Given the description of an element on the screen output the (x, y) to click on. 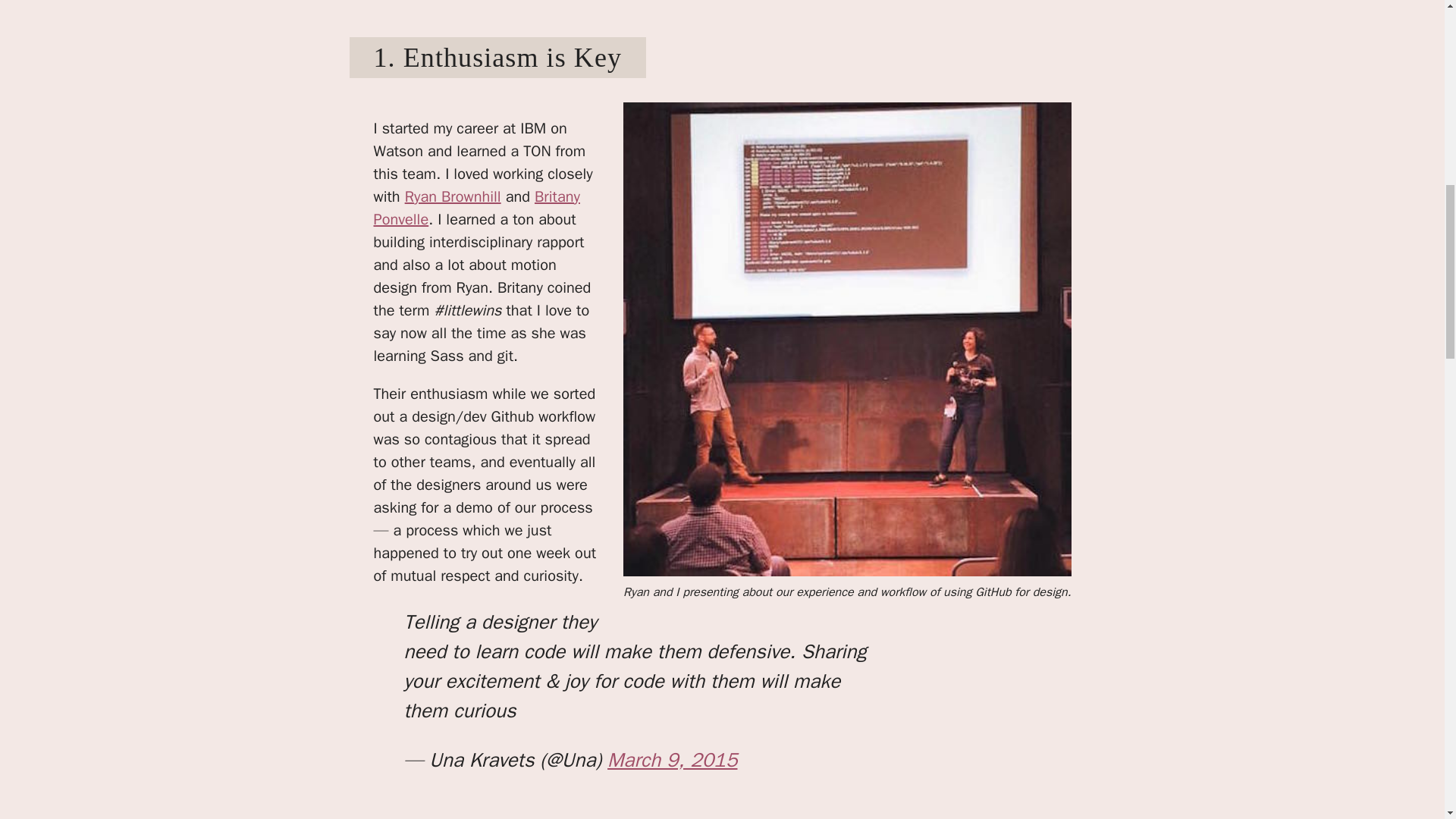
Ryan Brownhill (452, 196)
Britany Ponvelle (475, 208)
March 9, 2015 (671, 760)
